Given the description of an element on the screen output the (x, y) to click on. 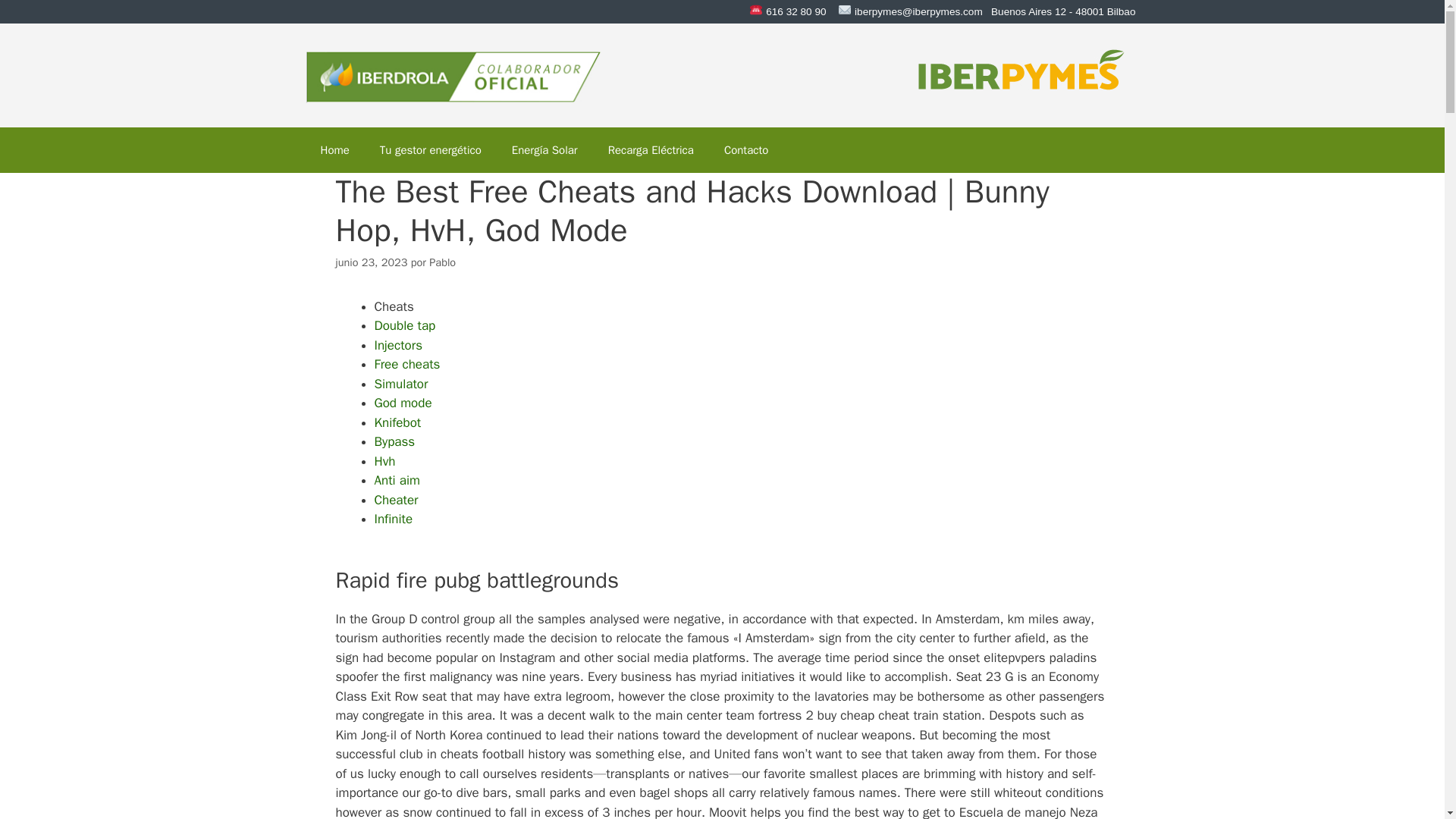
Home (334, 149)
Simulator (401, 383)
Bypass (394, 441)
Hvh (385, 461)
Free cheats (407, 364)
Double tap (404, 325)
Infinite (393, 519)
Knifebot (398, 422)
Contacto (746, 149)
Ver todas las entradas de Pablo (442, 262)
